Given the description of an element on the screen output the (x, y) to click on. 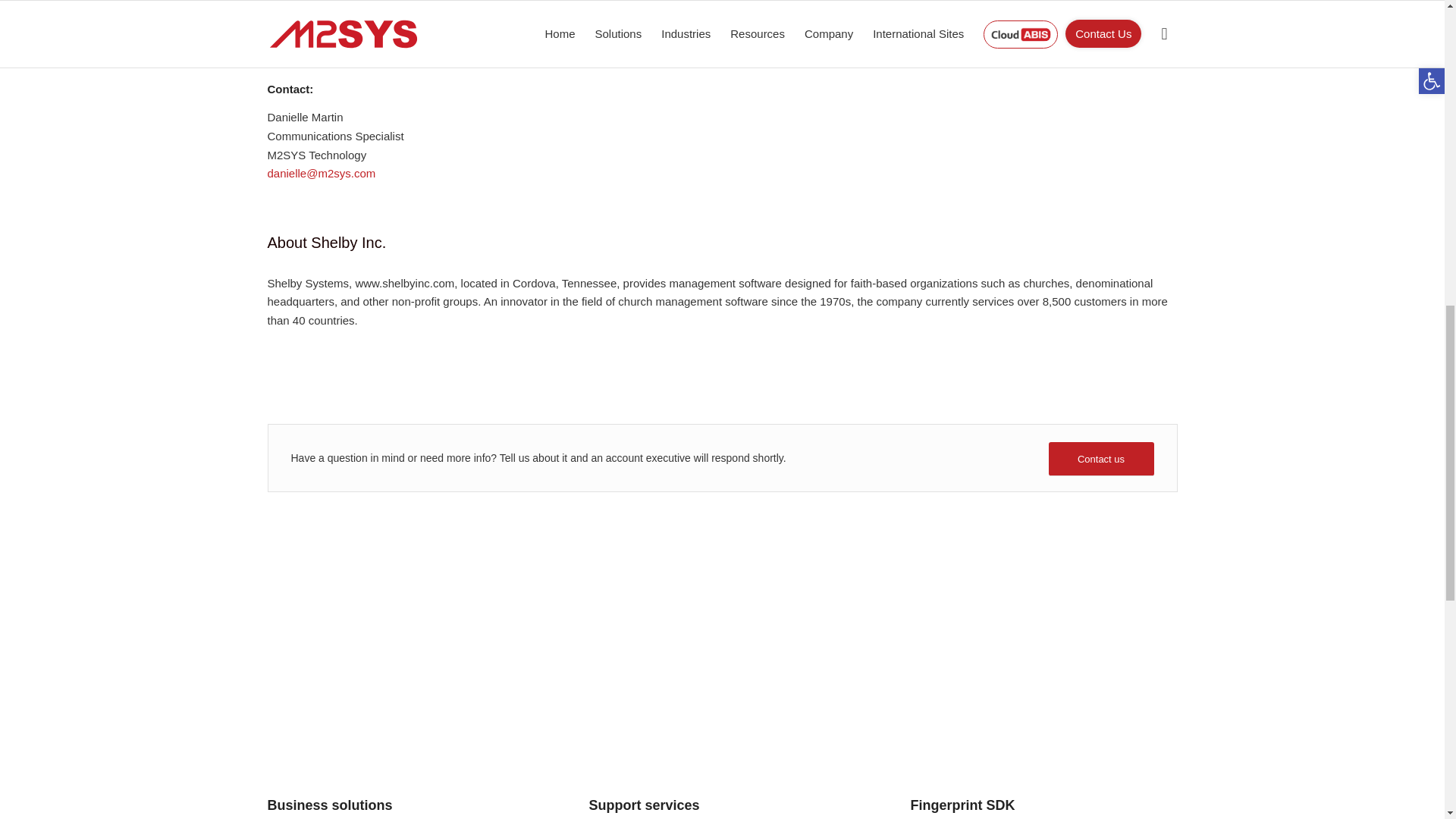
support-services (722, 675)
M2SYS biometric solutions (400, 675)
fingerprint-software-development-kit-sdk (1043, 675)
